Given the description of an element on the screen output the (x, y) to click on. 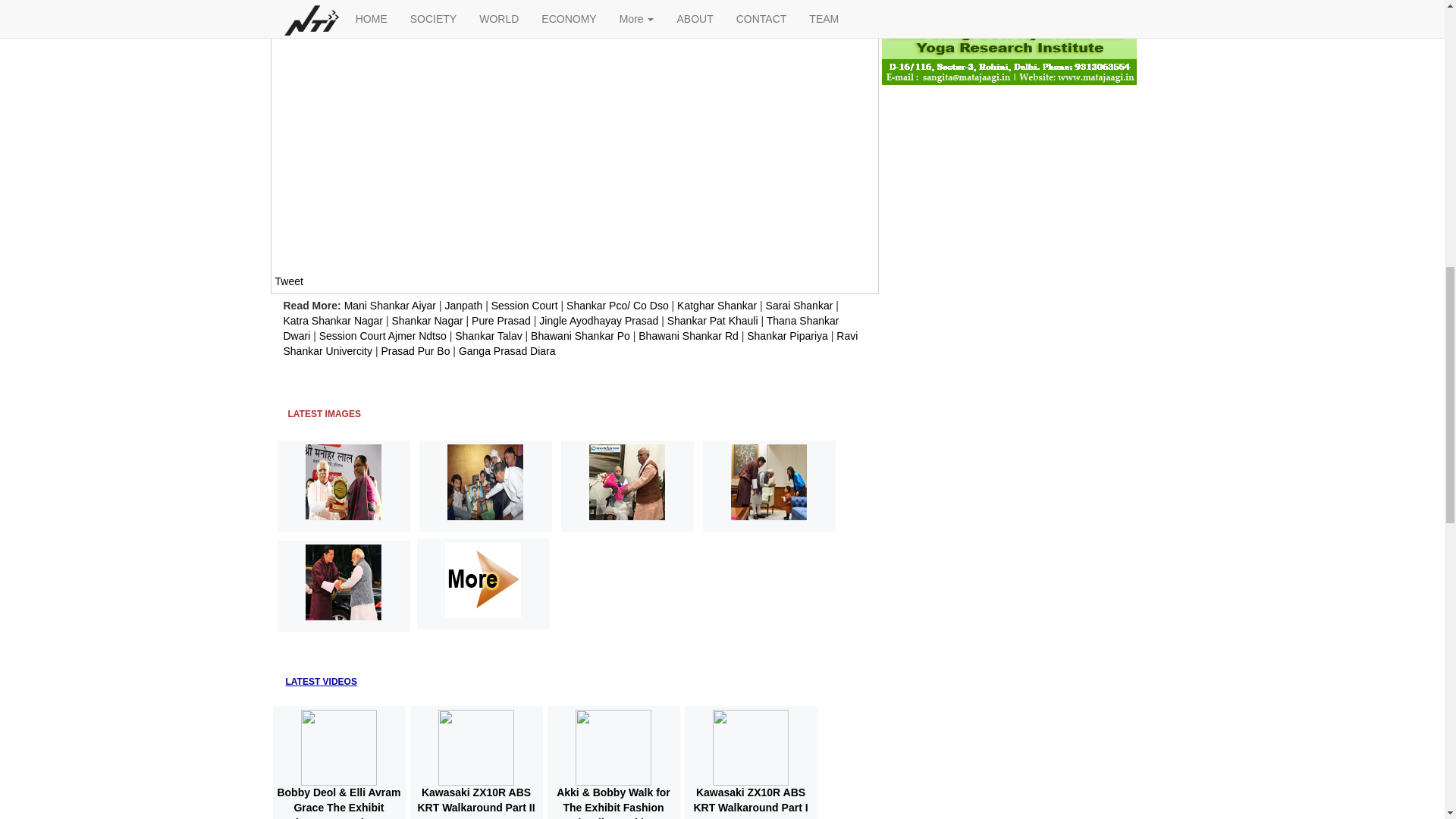
Bhawani Shankar Po (580, 336)
Shankar Nagar (427, 320)
Shankar Pat Khauli (712, 320)
Shankar Pipariya (787, 336)
Bhawani Shankar Rd (688, 336)
Advertisement (446, 377)
Janpath (462, 305)
Pure Prasad (501, 320)
Advertisement (402, 141)
Session Court Ajmer Ndtso (382, 336)
Katghar Shankar (717, 305)
Jingle Ayodhayay Prasad (598, 320)
Tweet (288, 281)
Thana Shankar Dwari (561, 328)
Shankar Talav (487, 336)
